Given the description of an element on the screen output the (x, y) to click on. 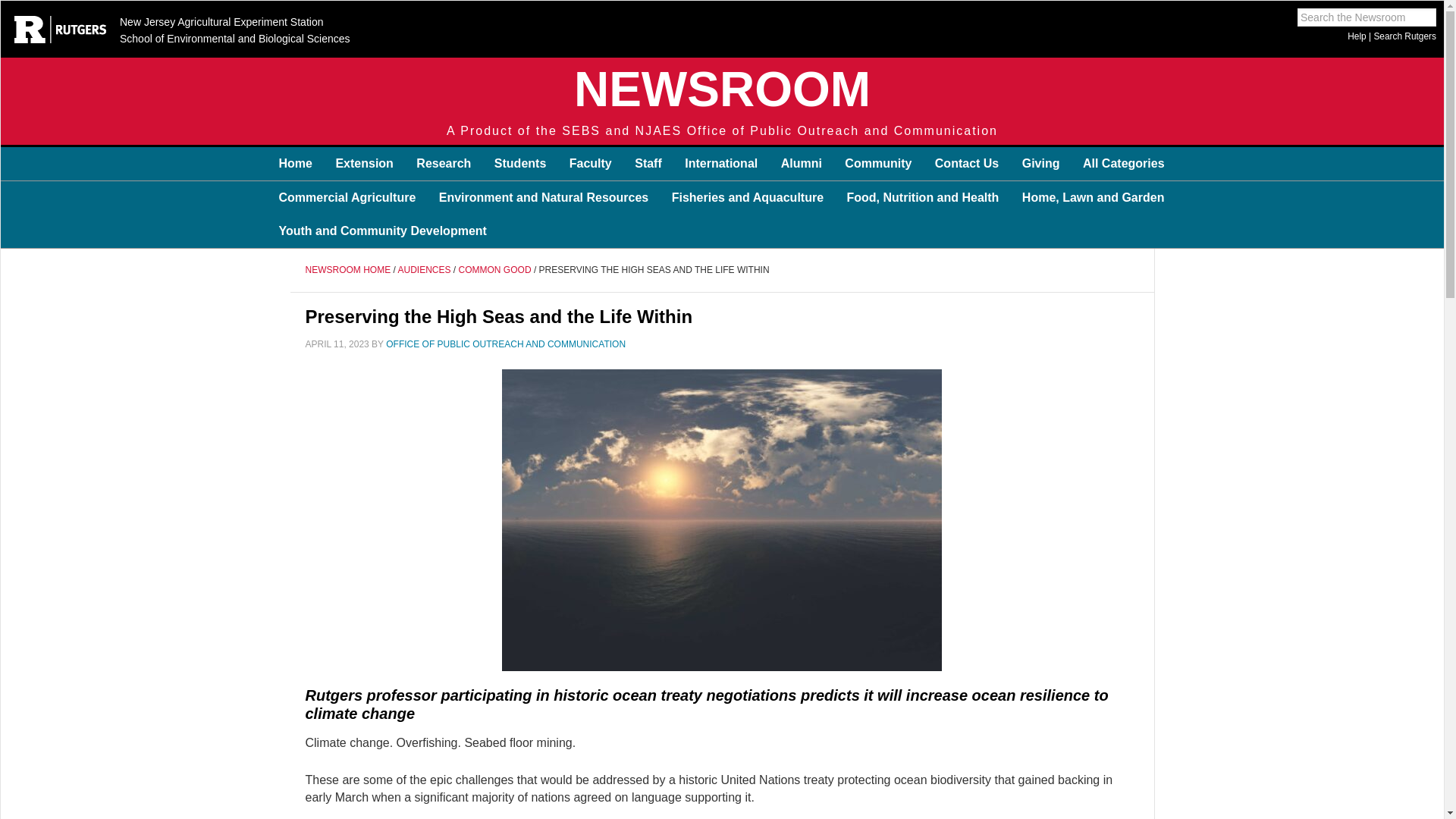
Food, Nutrition and Health (922, 197)
Extension (363, 163)
Commercial Agriculture (346, 197)
Alumni (801, 163)
COMMON GOOD (494, 269)
International (720, 163)
Community (877, 163)
Home (294, 163)
Home, Lawn and Garden (1093, 197)
Giving (1040, 163)
AUDIENCES (424, 269)
Staff (647, 163)
Contact Us (966, 163)
OFFICE OF PUBLIC OUTREACH AND COMMUNICATION (505, 344)
